Given the description of an element on the screen output the (x, y) to click on. 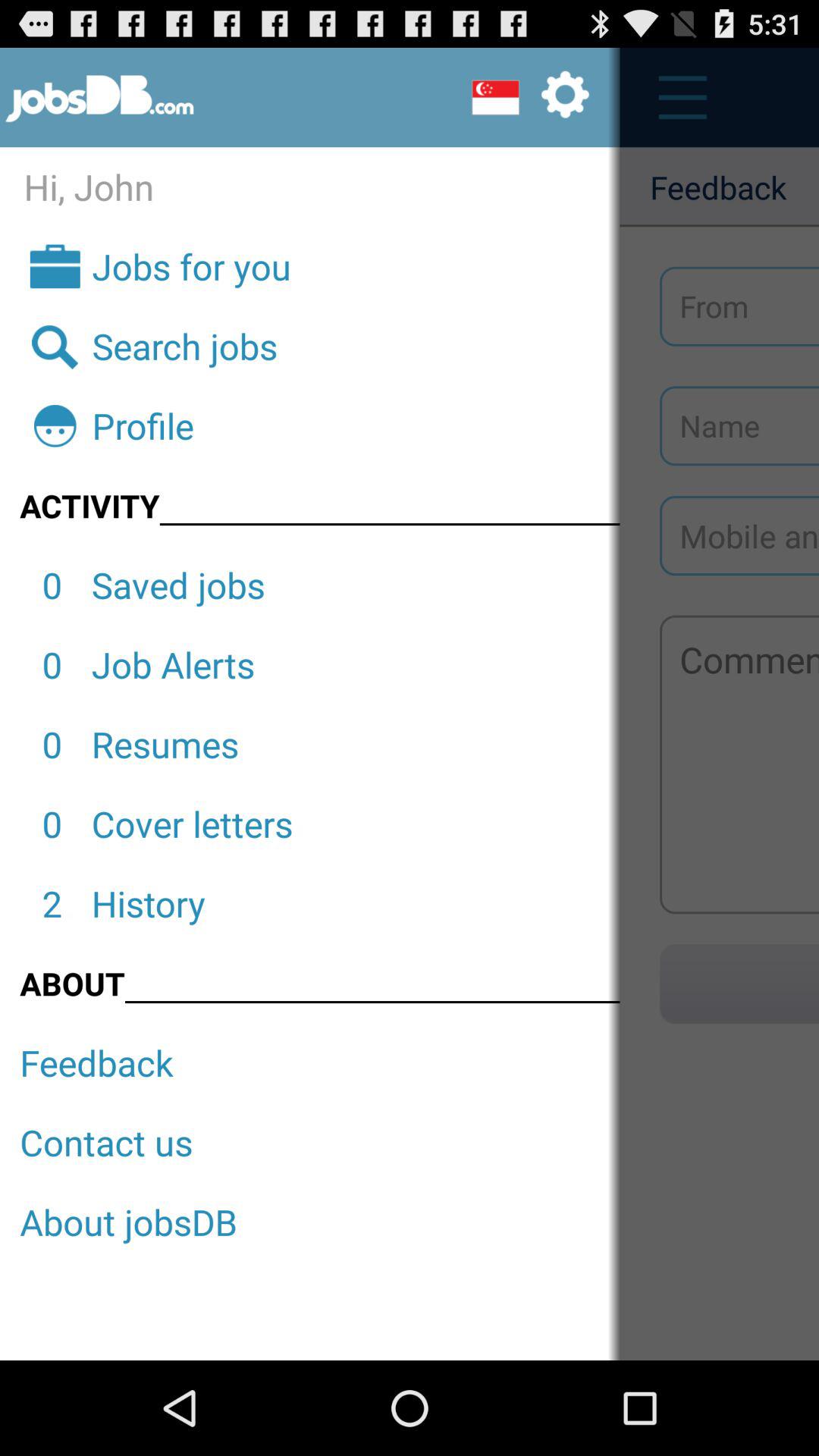
touch to enter comment (739, 764)
